Given the description of an element on the screen output the (x, y) to click on. 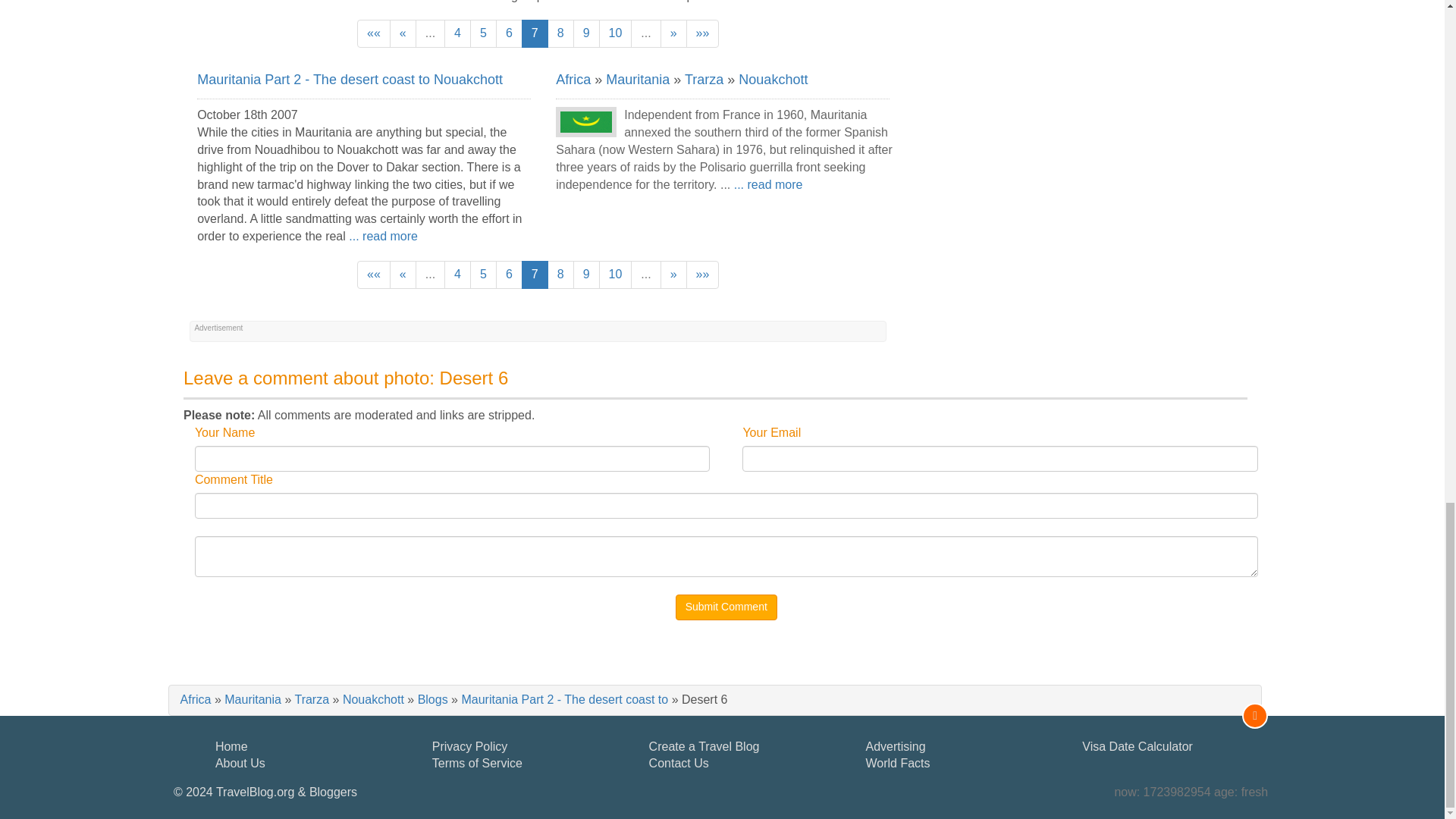
Previous (403, 33)
next (674, 33)
First (373, 33)
